Given the description of an element on the screen output the (x, y) to click on. 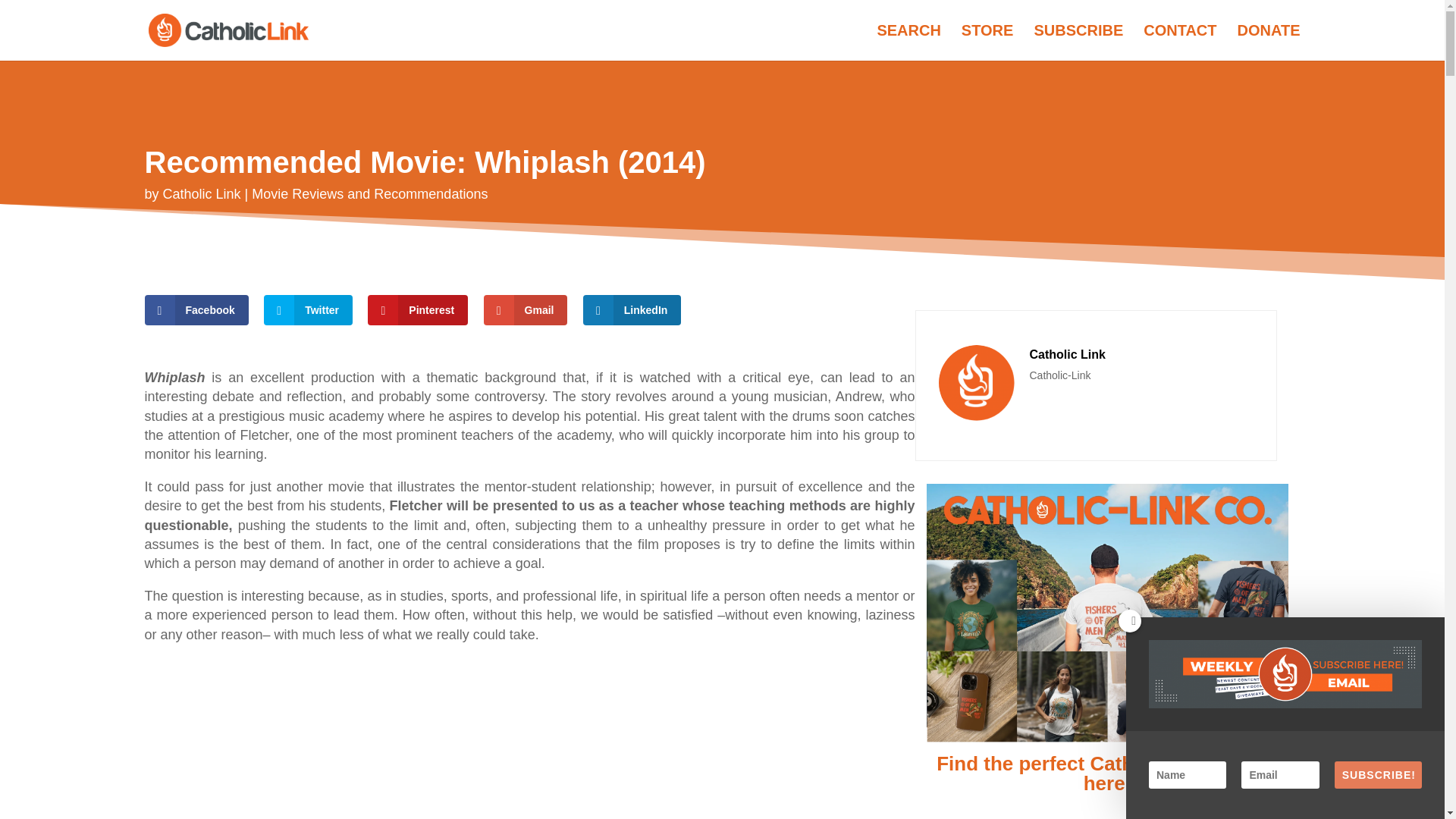
STORE (986, 42)
Catholic Link (202, 193)
Movie Reviews and Recommendations (369, 193)
Twitter (307, 309)
Gmail (525, 309)
Facebook (195, 309)
Posts by Catholic Link (202, 193)
LinkedIn (632, 309)
SUBSCRIBE (1077, 42)
Pinterest (417, 309)
DONATE (1268, 42)
SEARCH (908, 42)
CONTACT (1178, 42)
